Given the description of an element on the screen output the (x, y) to click on. 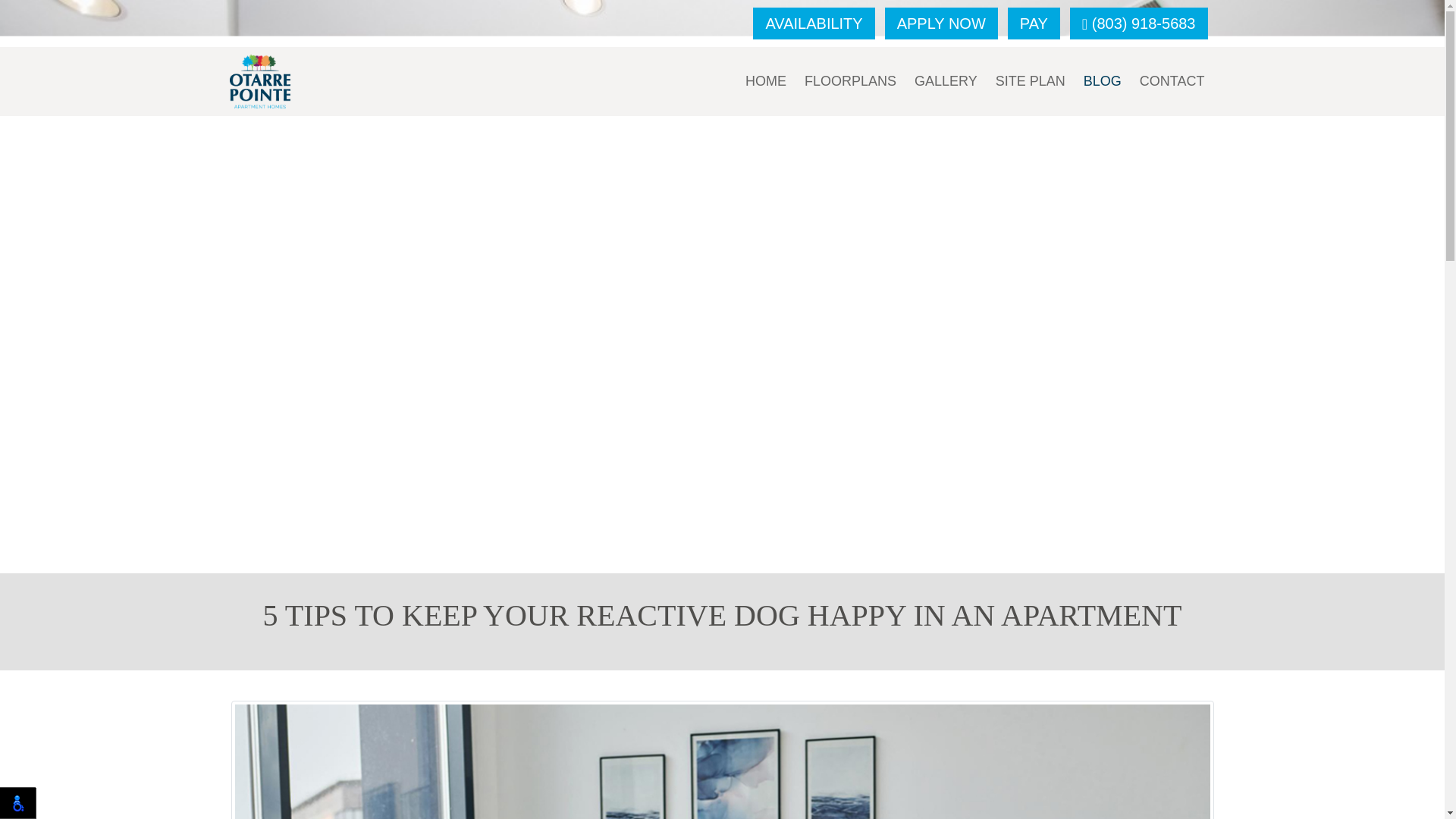
PAY (1033, 23)
AVAILABILITY (813, 23)
Contact (1172, 81)
GALLERY (946, 81)
Site Plan (1030, 81)
FLOORPLANS (849, 81)
APPLY NOW (941, 23)
HOME (765, 81)
Blog (1102, 81)
Floorplans (849, 81)
